Given the description of an element on the screen output the (x, y) to click on. 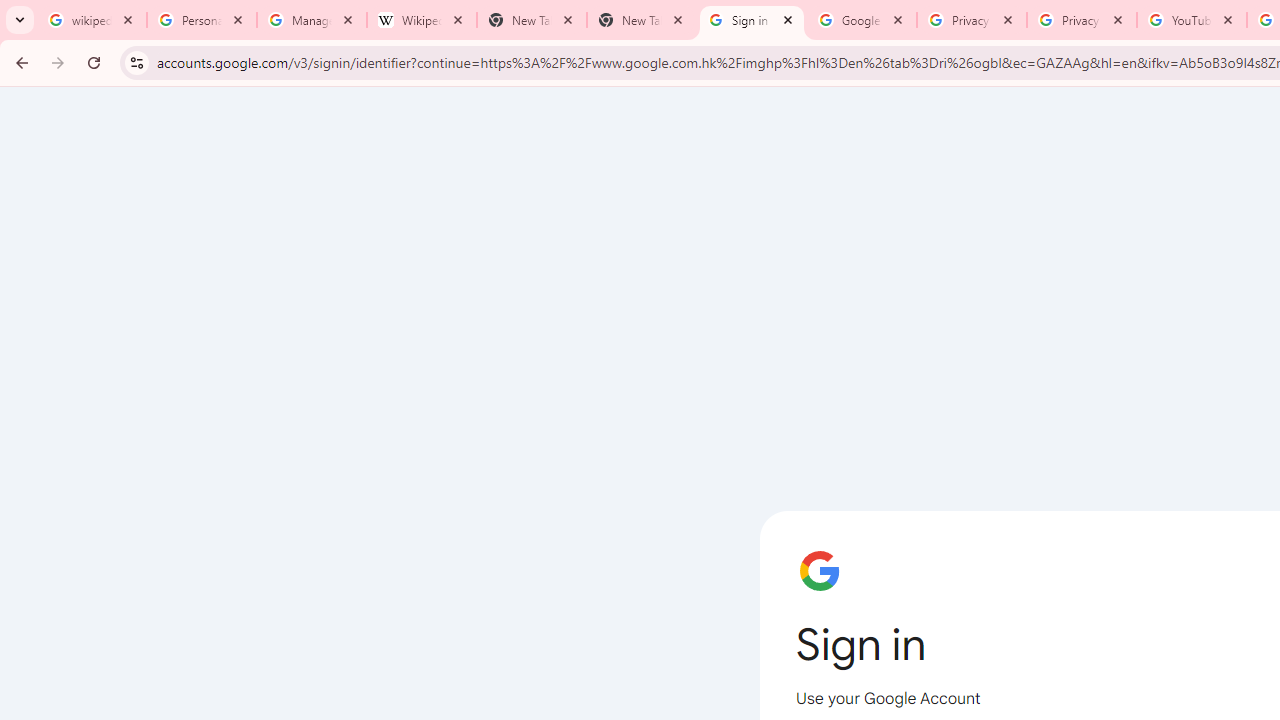
Personalization & Google Search results - Google Search Help (202, 20)
Wikipedia:Edit requests - Wikipedia (422, 20)
Google Drive: Sign-in (861, 20)
Manage your Location History - Google Search Help (312, 20)
New Tab (642, 20)
Sign in - Google Accounts (752, 20)
